Given the description of an element on the screen output the (x, y) to click on. 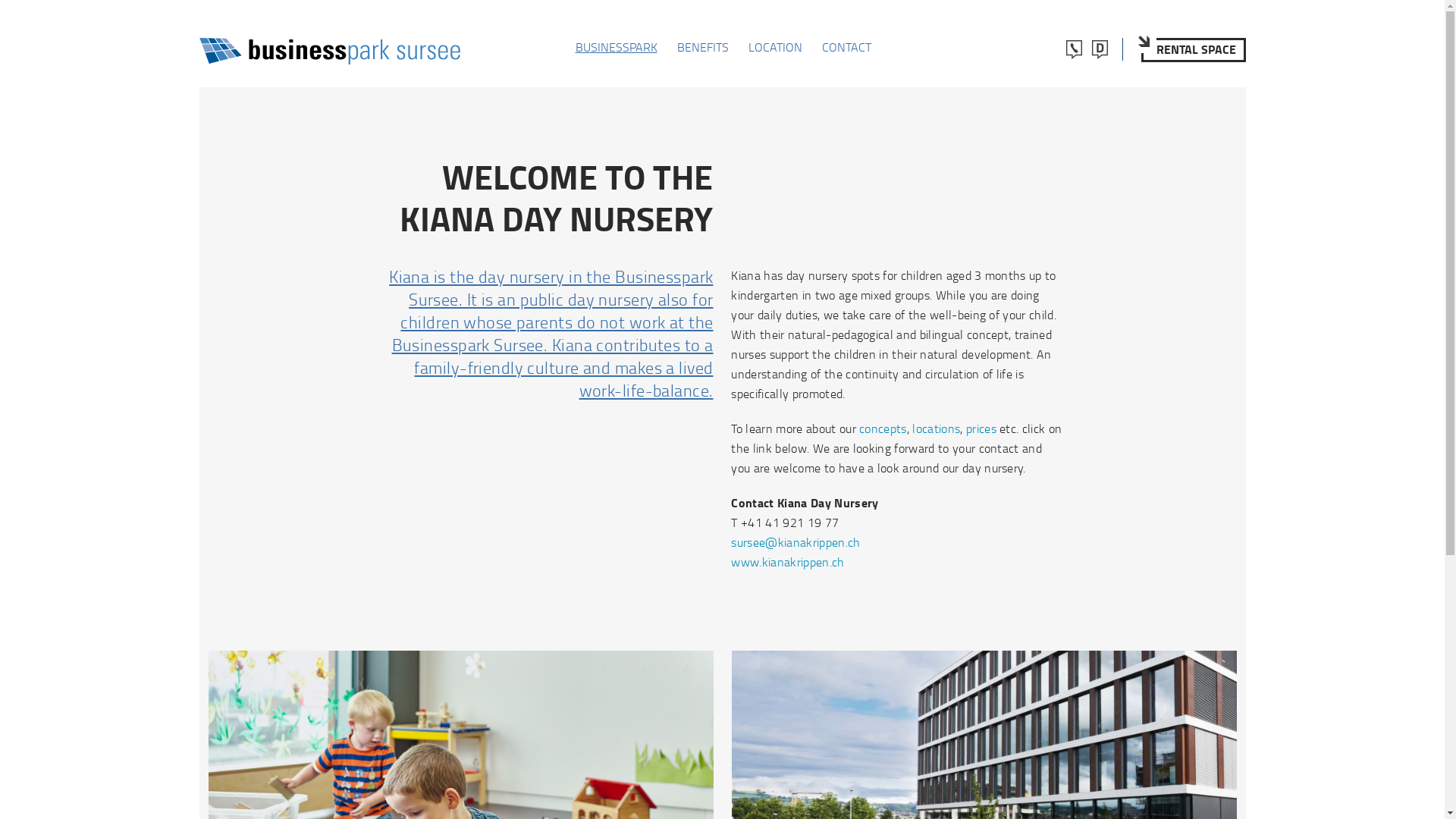
CONTACT Element type: text (846, 46)
BUSINESSPARK Element type: text (615, 46)
concepts Element type: text (882, 428)
BENEFITS Element type: text (702, 46)
locations Element type: text (936, 428)
Kontakt Element type: text (1074, 48)
prices Element type: text (981, 428)
sursee@kianakrippen.ch Element type: text (795, 541)
Deutsch Element type: text (1099, 48)
www.kianakrippen.ch Element type: text (787, 561)
LOCATION Element type: text (774, 46)
RENTAL SPACE Element type: text (1192, 49)
